Given the description of an element on the screen output the (x, y) to click on. 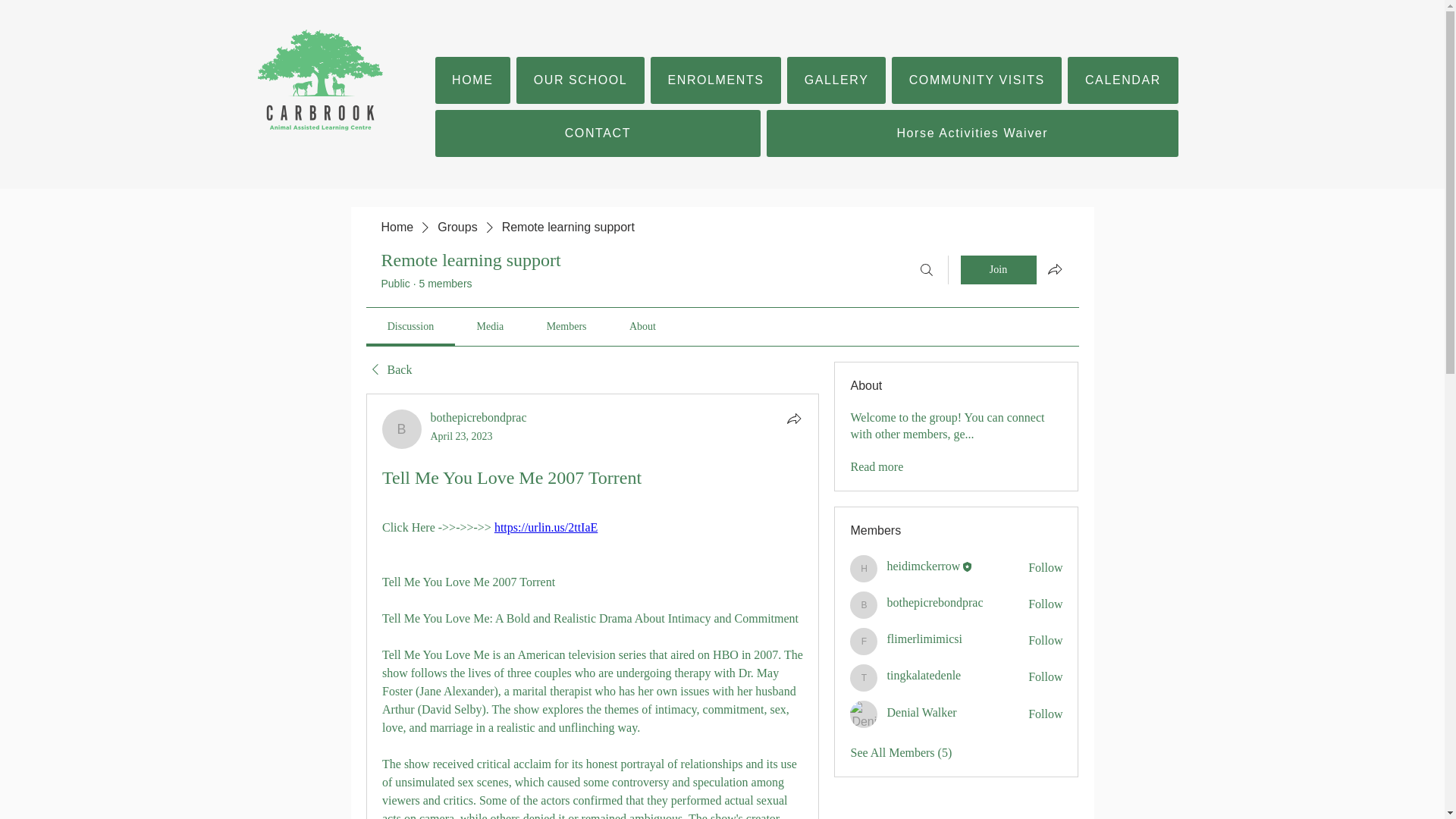
April 23, 2023 (461, 436)
CONTACT (598, 133)
Join (997, 269)
Follow (1044, 567)
bothepicrebondprac (478, 417)
heidimckerrow (922, 565)
ENROLMENTS (715, 80)
bothepicrebondprac (401, 428)
Back (388, 369)
Groups (457, 227)
Denial Walker (863, 714)
Follow (1044, 604)
COMMUNITY VISITS (976, 80)
GALLERY (836, 80)
Horse Activities Waiver (972, 133)
